Given the description of an element on the screen output the (x, y) to click on. 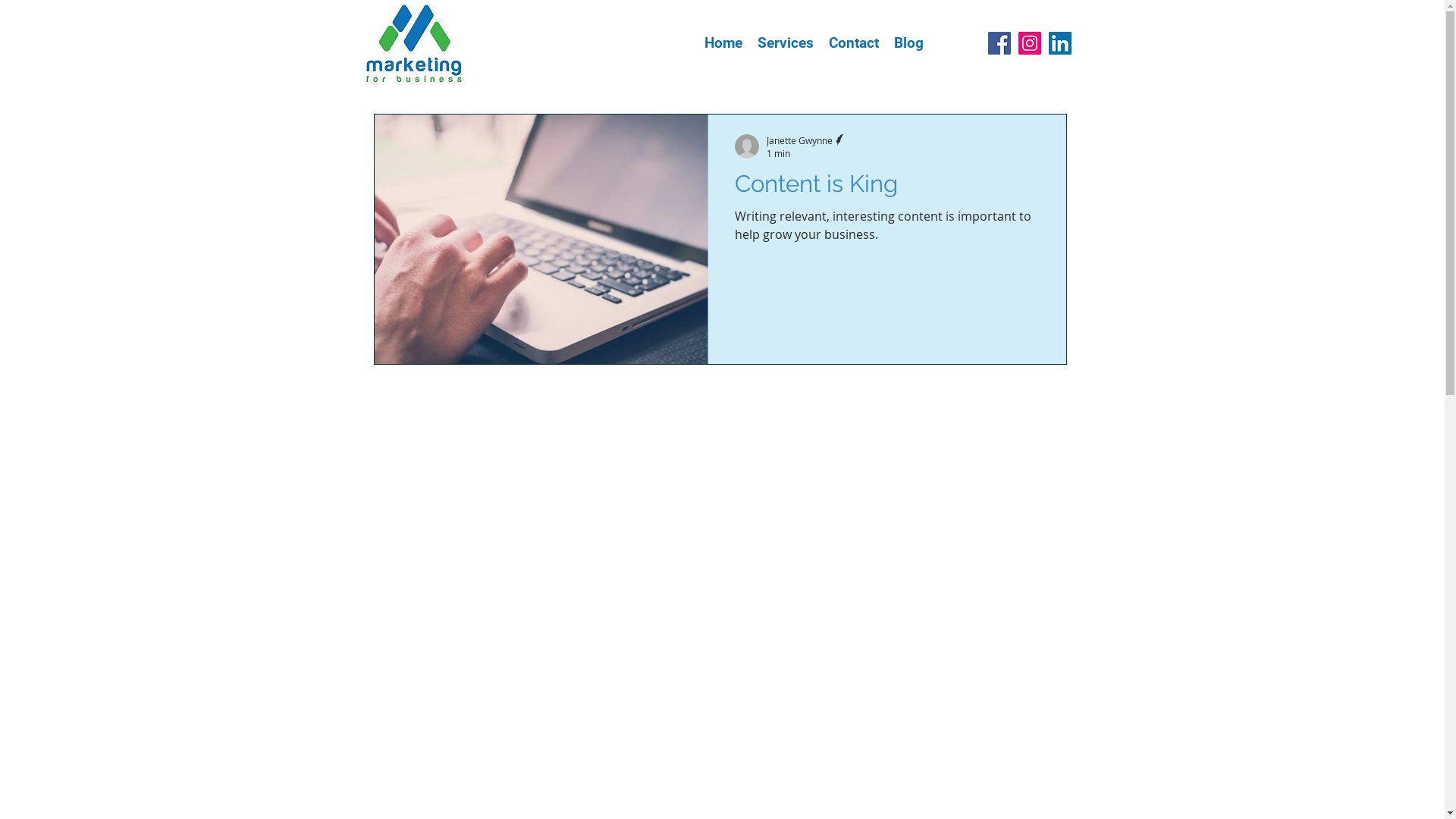
Contact Element type: text (852, 42)
Content is King Element type: text (886, 187)
Home Element type: text (722, 42)
Blog Element type: text (907, 42)
Services Element type: text (784, 42)
